Given the description of an element on the screen output the (x, y) to click on. 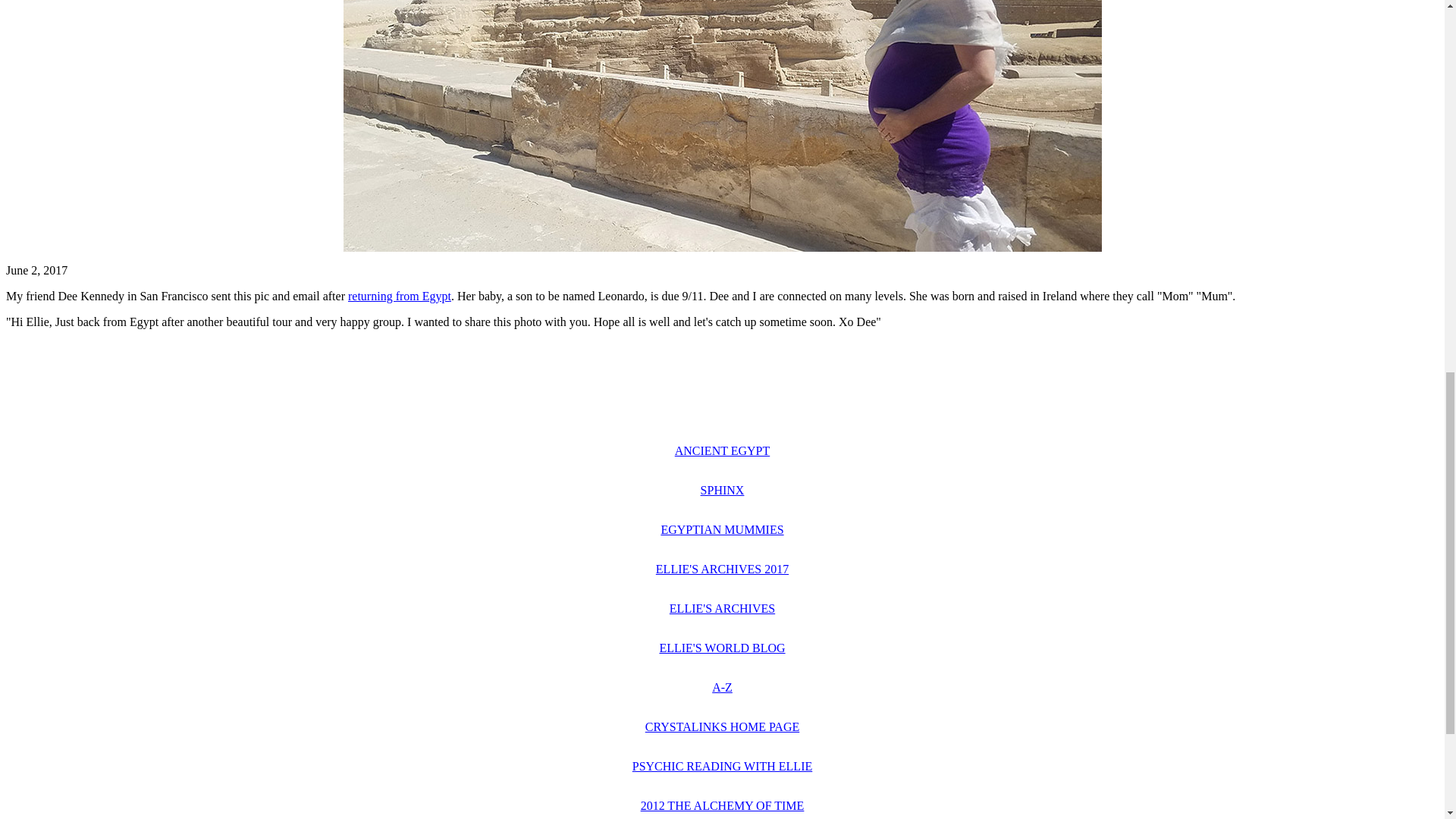
A-Z (721, 686)
2012 THE ALCHEMY OF TIME (722, 805)
ANCIENT EGYPT (722, 450)
EGYPTIAN MUMMIES (722, 529)
PSYCHIC READING WITH ELLIE (721, 766)
returning from Egypt (399, 295)
ELLIE'S WORLD BLOG (721, 647)
CRYSTALINKS HOME PAGE (722, 726)
ELLIE'S ARCHIVES (721, 608)
SPHINX (722, 490)
